Given the description of an element on the screen output the (x, y) to click on. 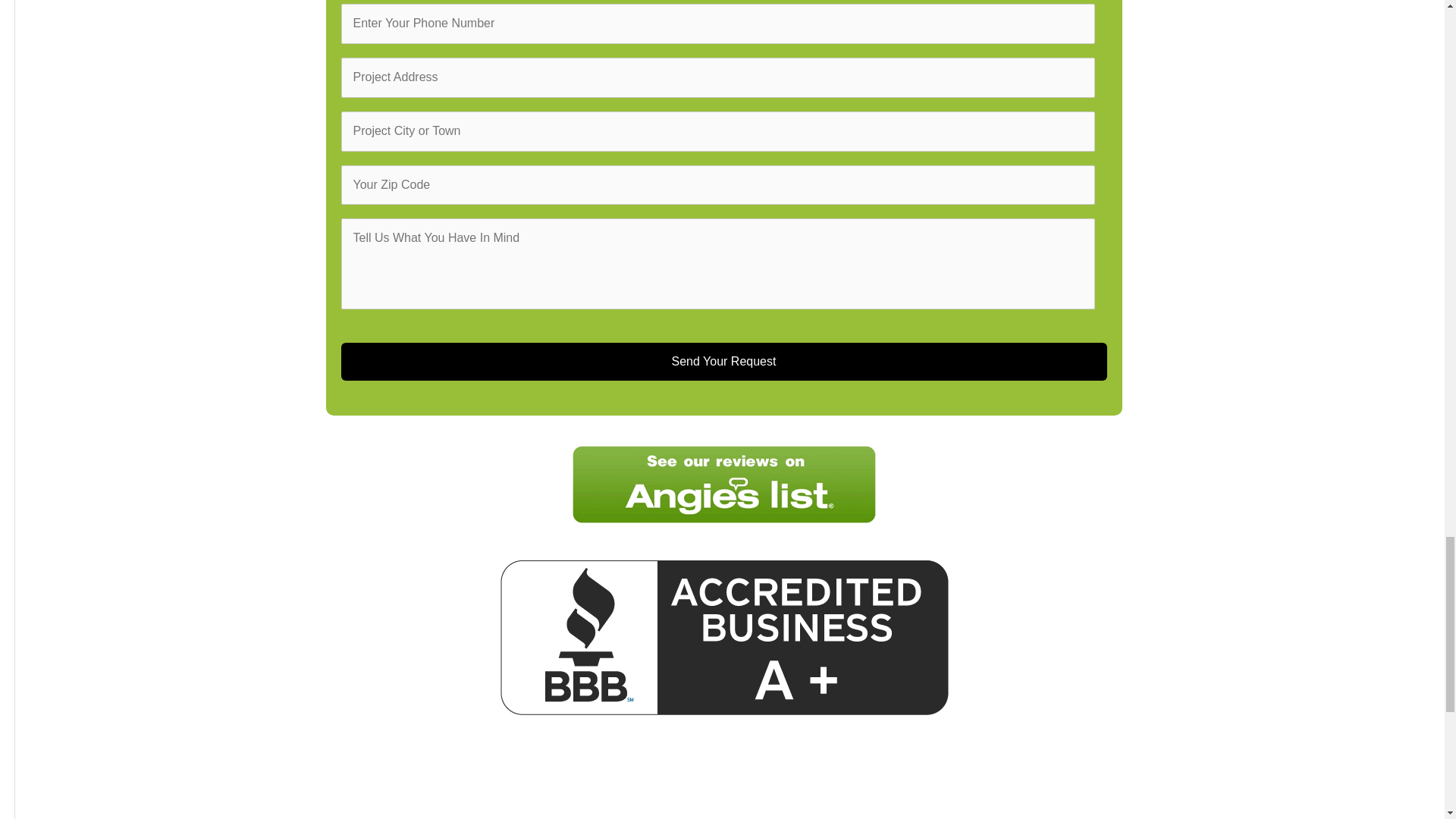
marvin-authorized (723, 785)
Send Your Request (723, 361)
Send Your Request (723, 361)
bbb-accredited-window-replacements (723, 636)
angies-list-reviews-replacement-windows (723, 484)
